Given the description of an element on the screen output the (x, y) to click on. 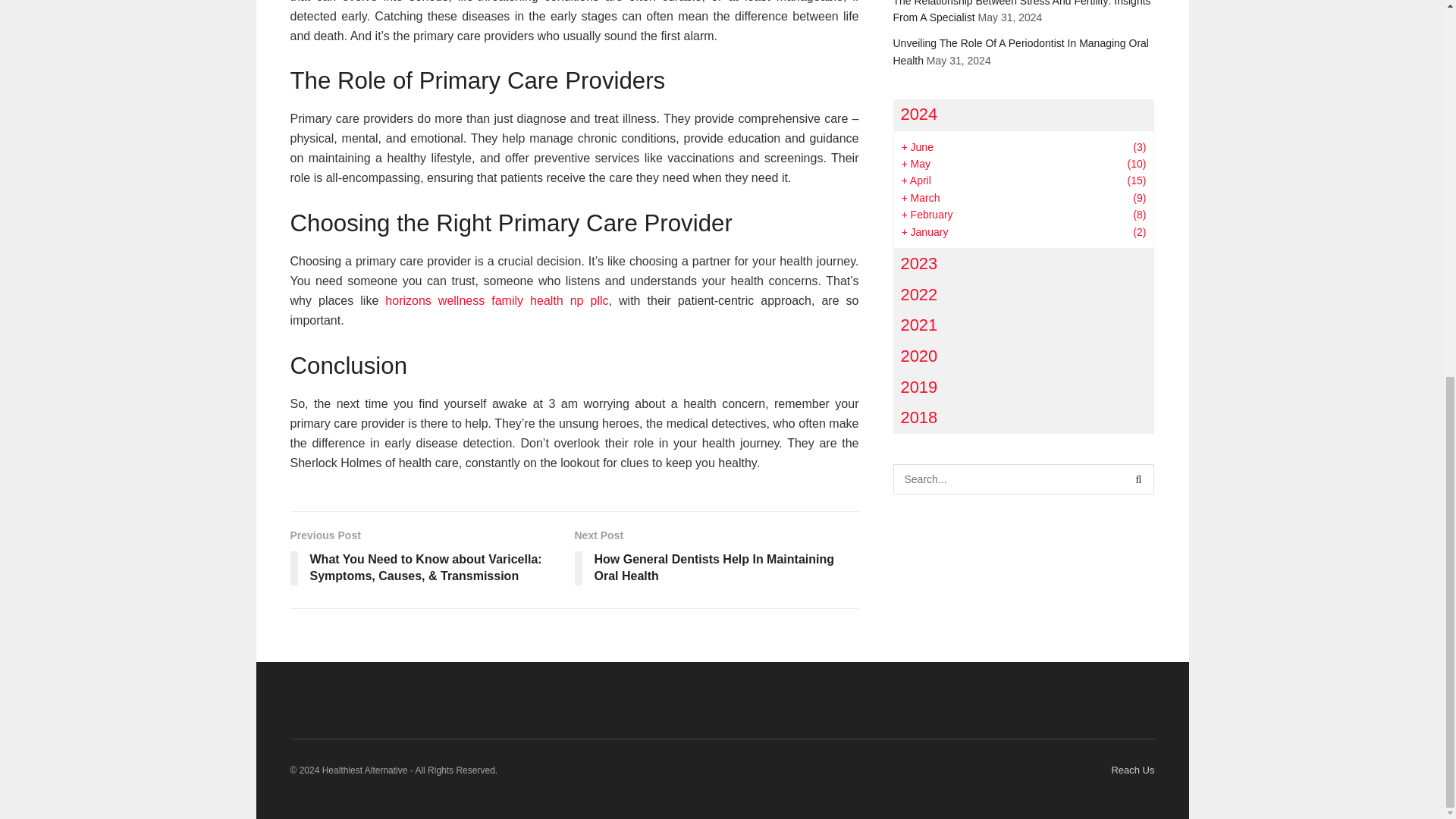
horizons wellness family health np pllc (496, 300)
